Given the description of an element on the screen output the (x, y) to click on. 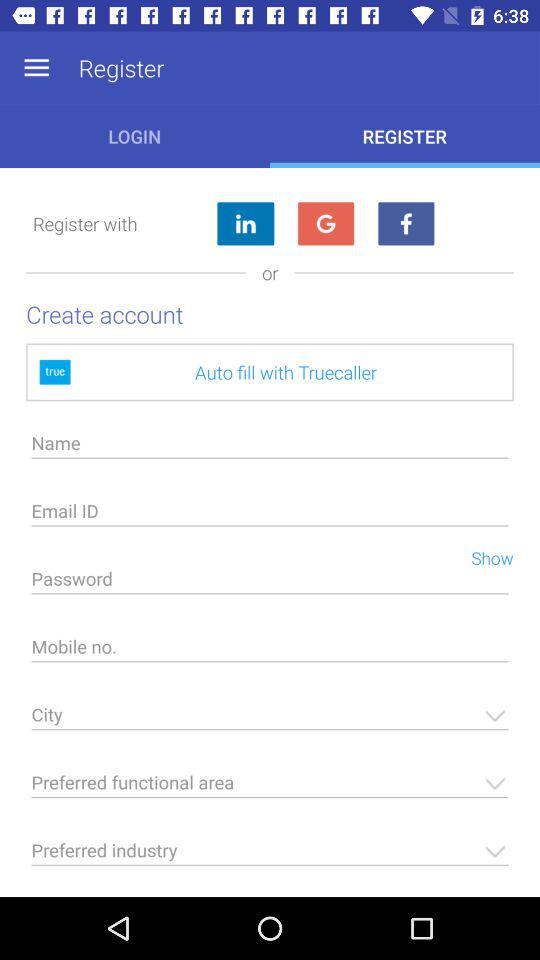
select your preferred industry (269, 855)
